Given the description of an element on the screen output the (x, y) to click on. 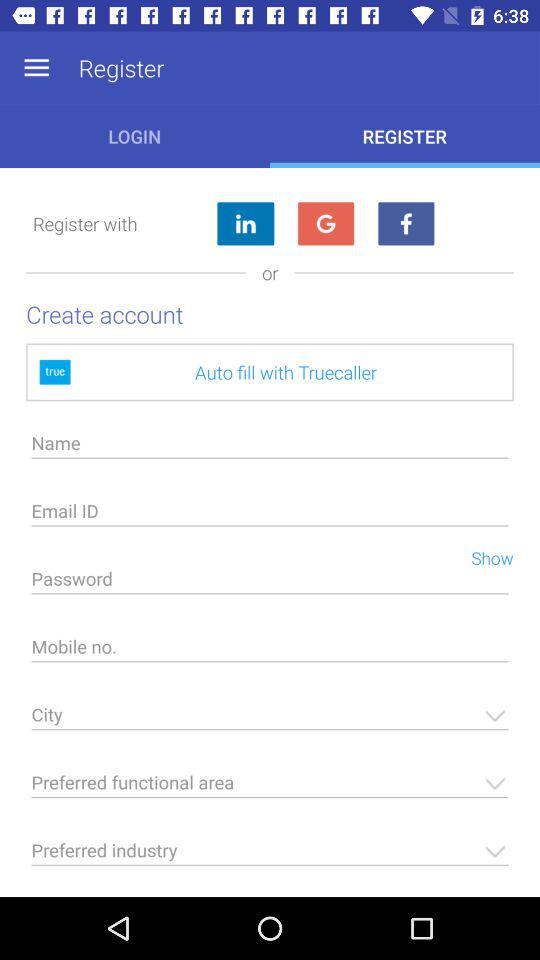
select your preferred industry (269, 855)
